Given the description of an element on the screen output the (x, y) to click on. 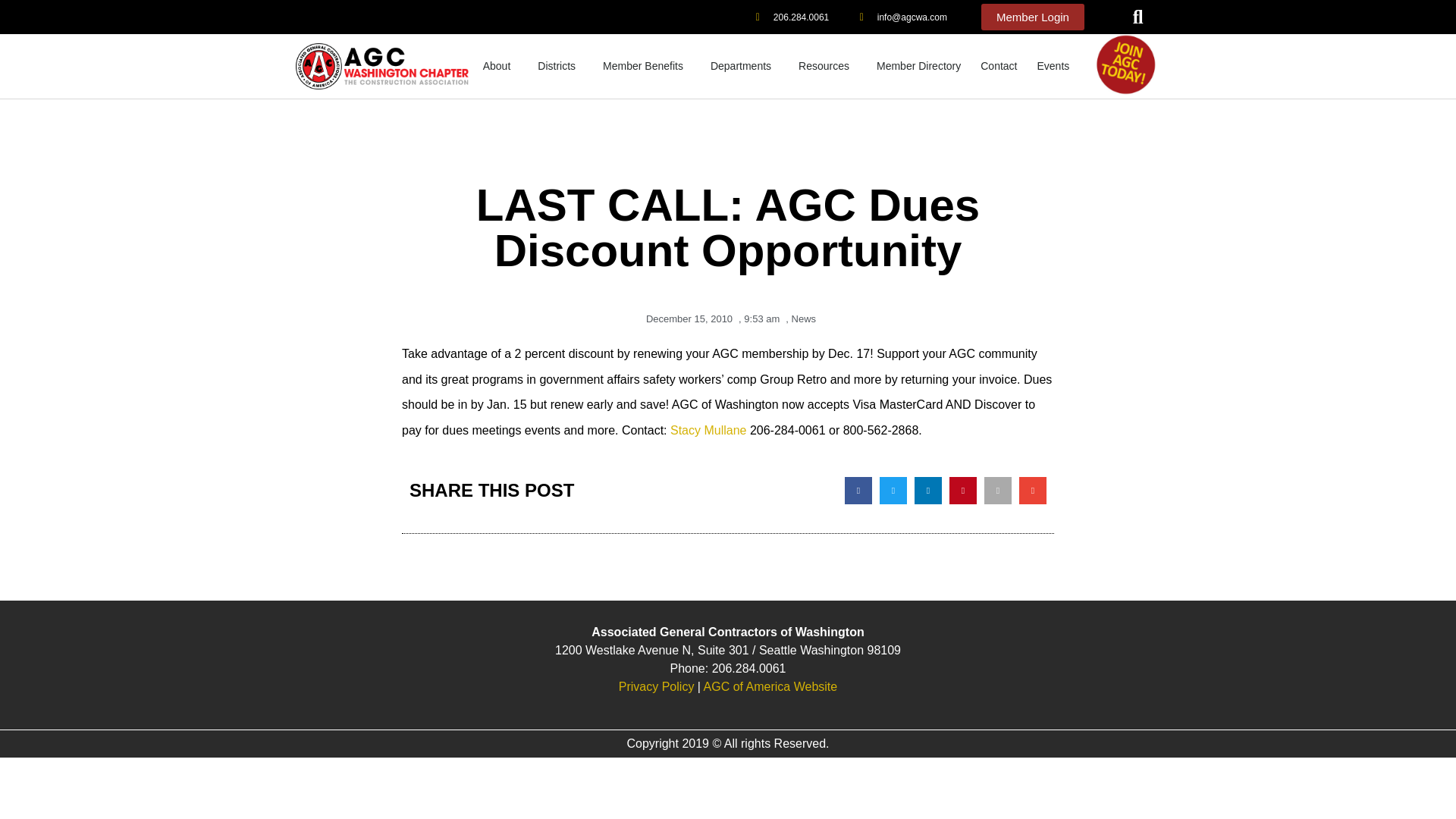
Member Benefits (646, 65)
Member Login (1032, 17)
Districts (559, 65)
Departments (744, 65)
About (500, 65)
